Given the description of an element on the screen output the (x, y) to click on. 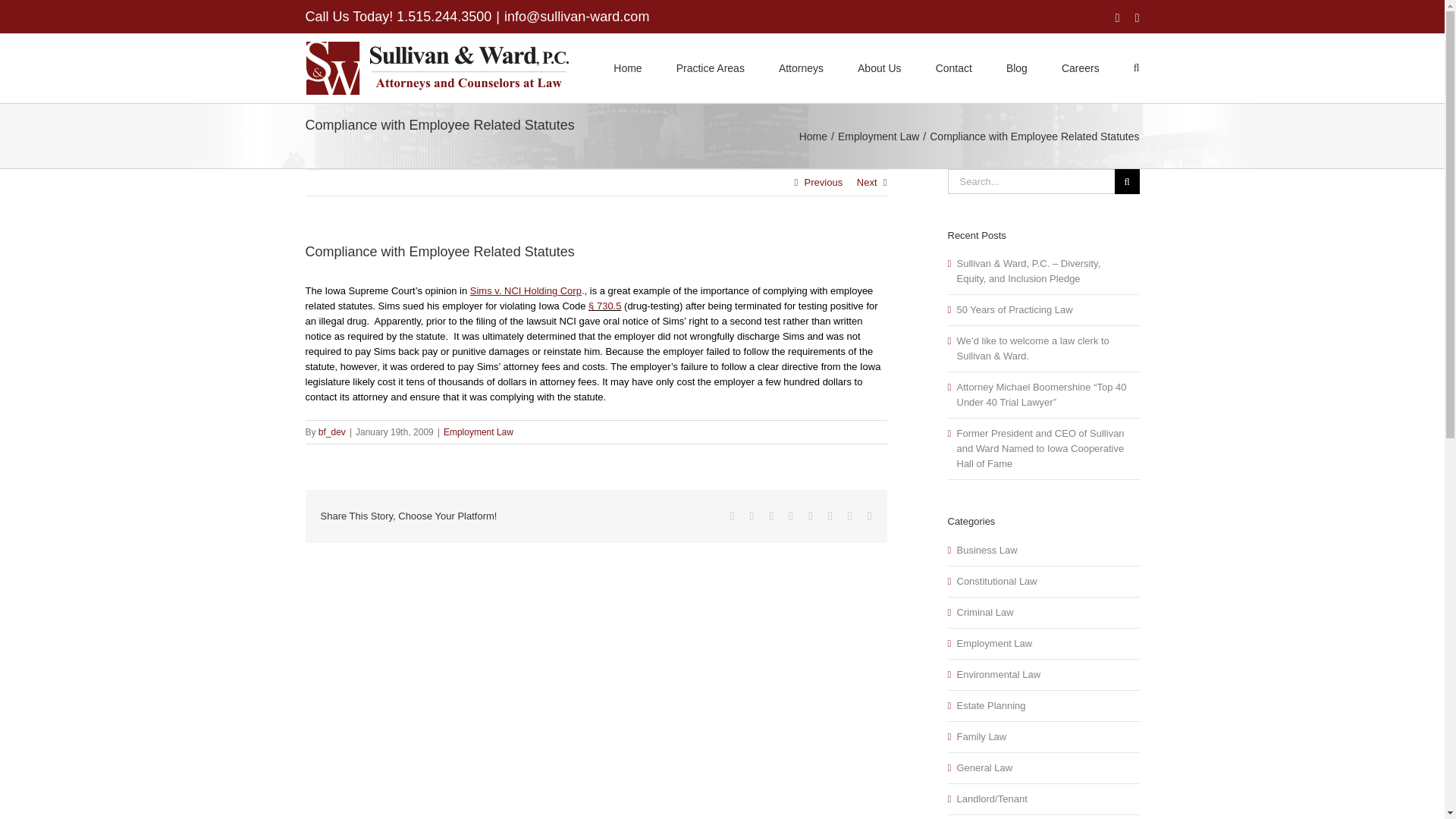
Call Us Today! 1.515.244.3500 (398, 16)
Practice Areas (710, 66)
